Given the description of an element on the screen output the (x, y) to click on. 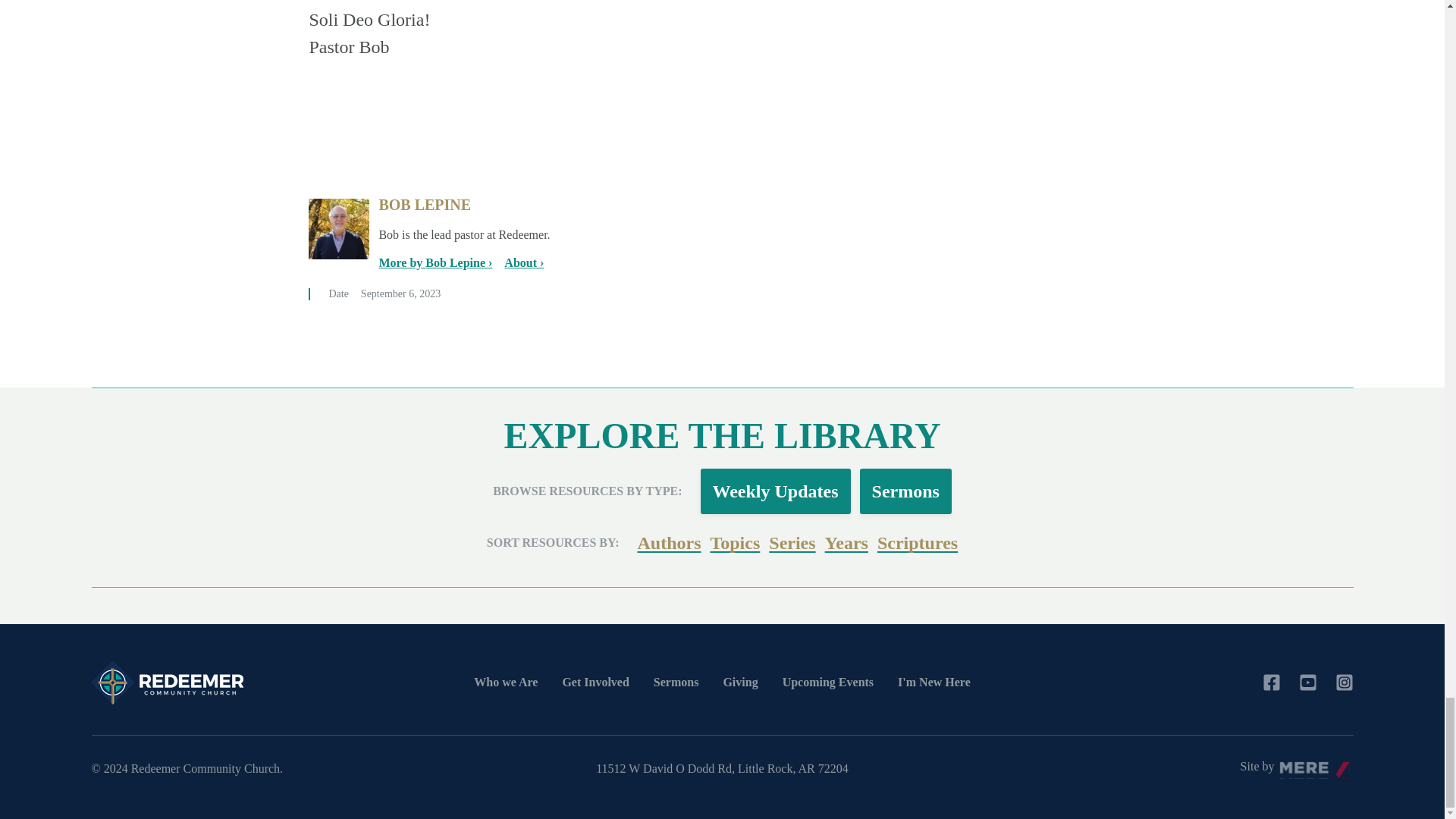
Instagram (1343, 682)
Authors (668, 542)
I'm New Here (934, 681)
Weekly Updates (775, 491)
Facebook (1270, 682)
Who we Are (505, 681)
Years (846, 542)
Sermons (906, 491)
Series (791, 542)
Sermons (675, 681)
Mere (1316, 766)
Giving (739, 681)
Get Involved (595, 681)
Scriptures (917, 542)
Upcoming Events (828, 681)
